Given the description of an element on the screen output the (x, y) to click on. 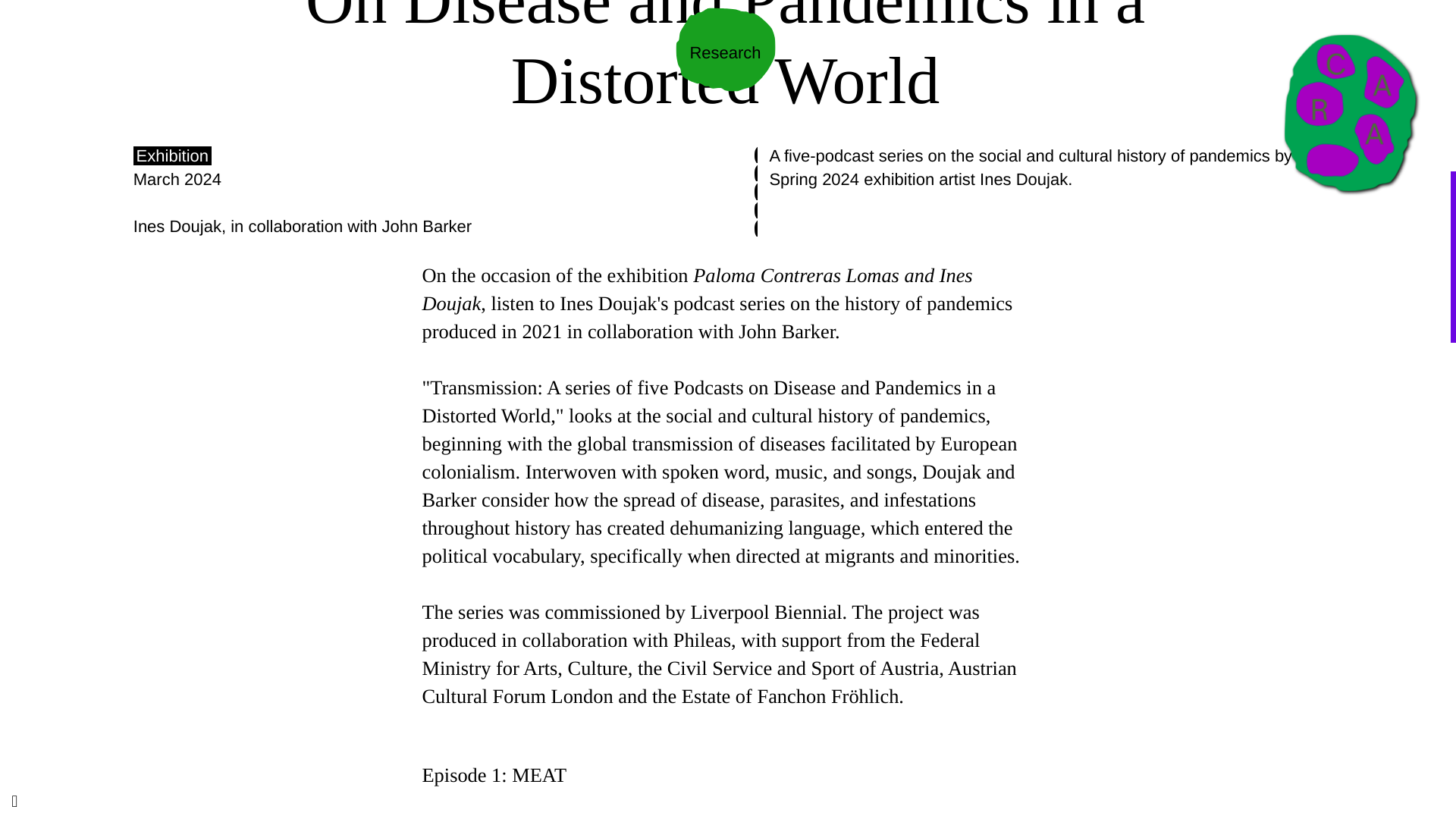
Exhibition (172, 155)
